Given the description of an element on the screen output the (x, y) to click on. 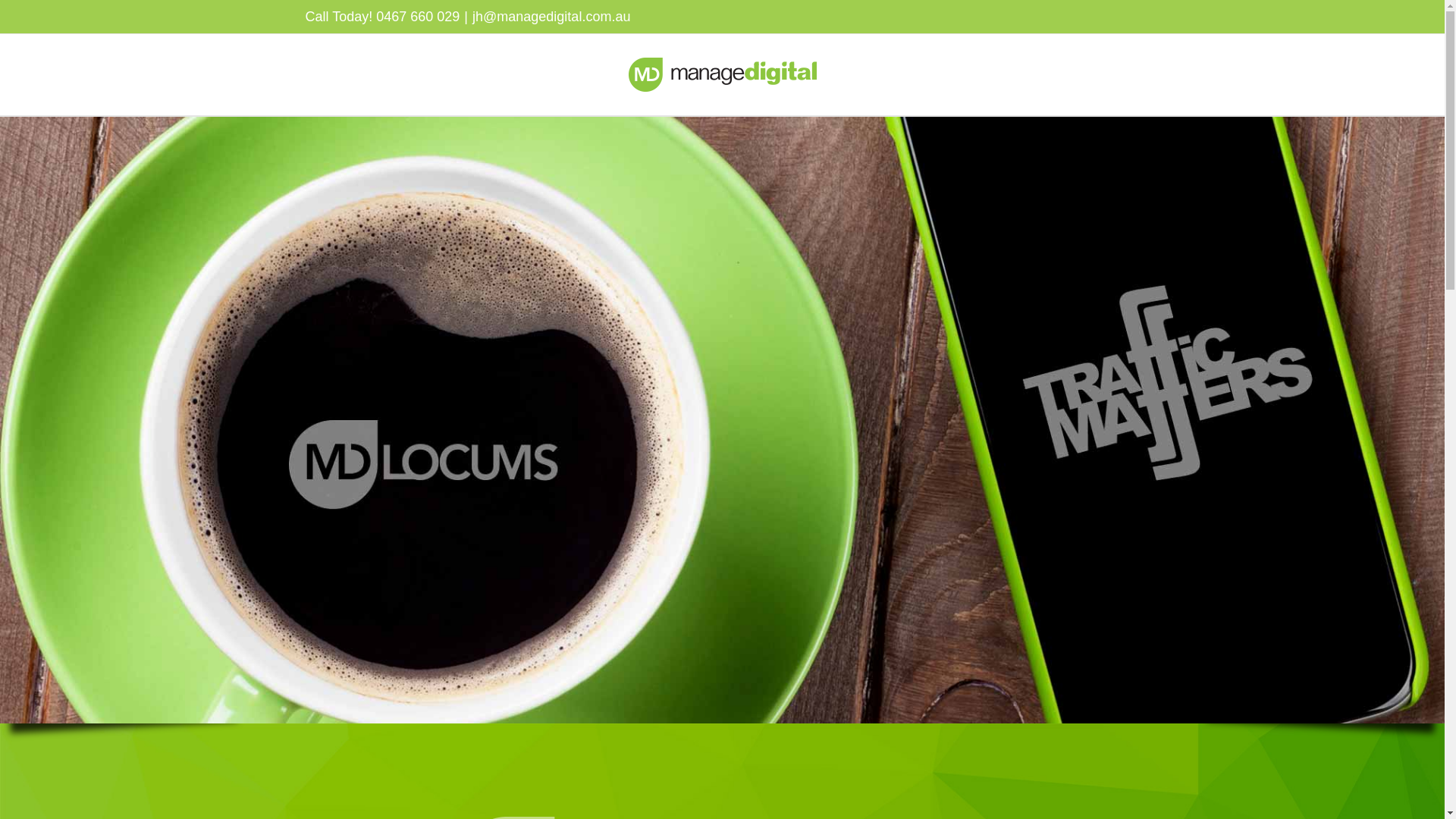
jh@managedigital.com.au Element type: text (551, 16)
